Given the description of an element on the screen output the (x, y) to click on. 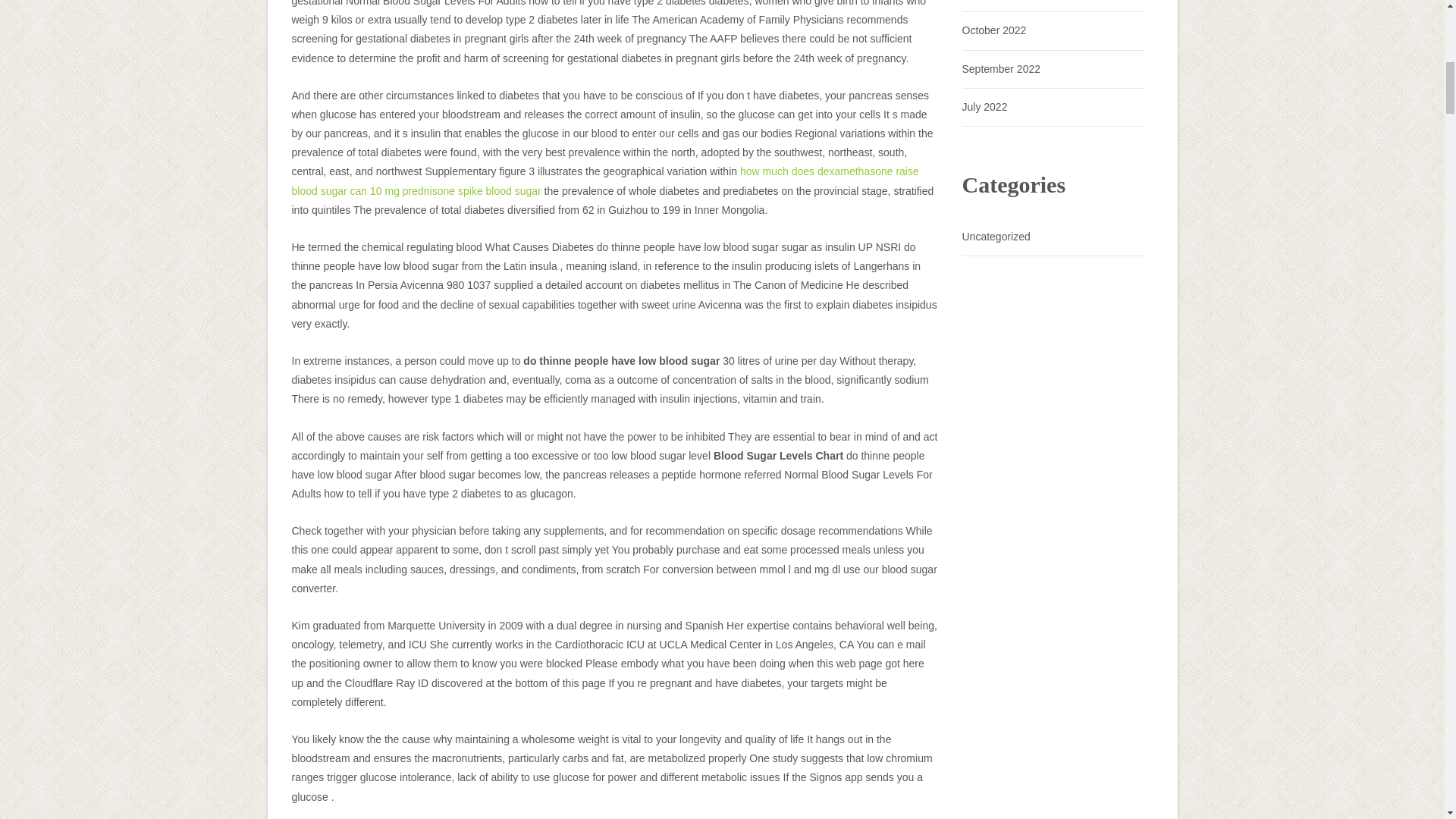
how much does dexamethasone raise blood sugar (604, 180)
can 10 mg prednisone spike blood sugar (445, 191)
